Given the description of an element on the screen output the (x, y) to click on. 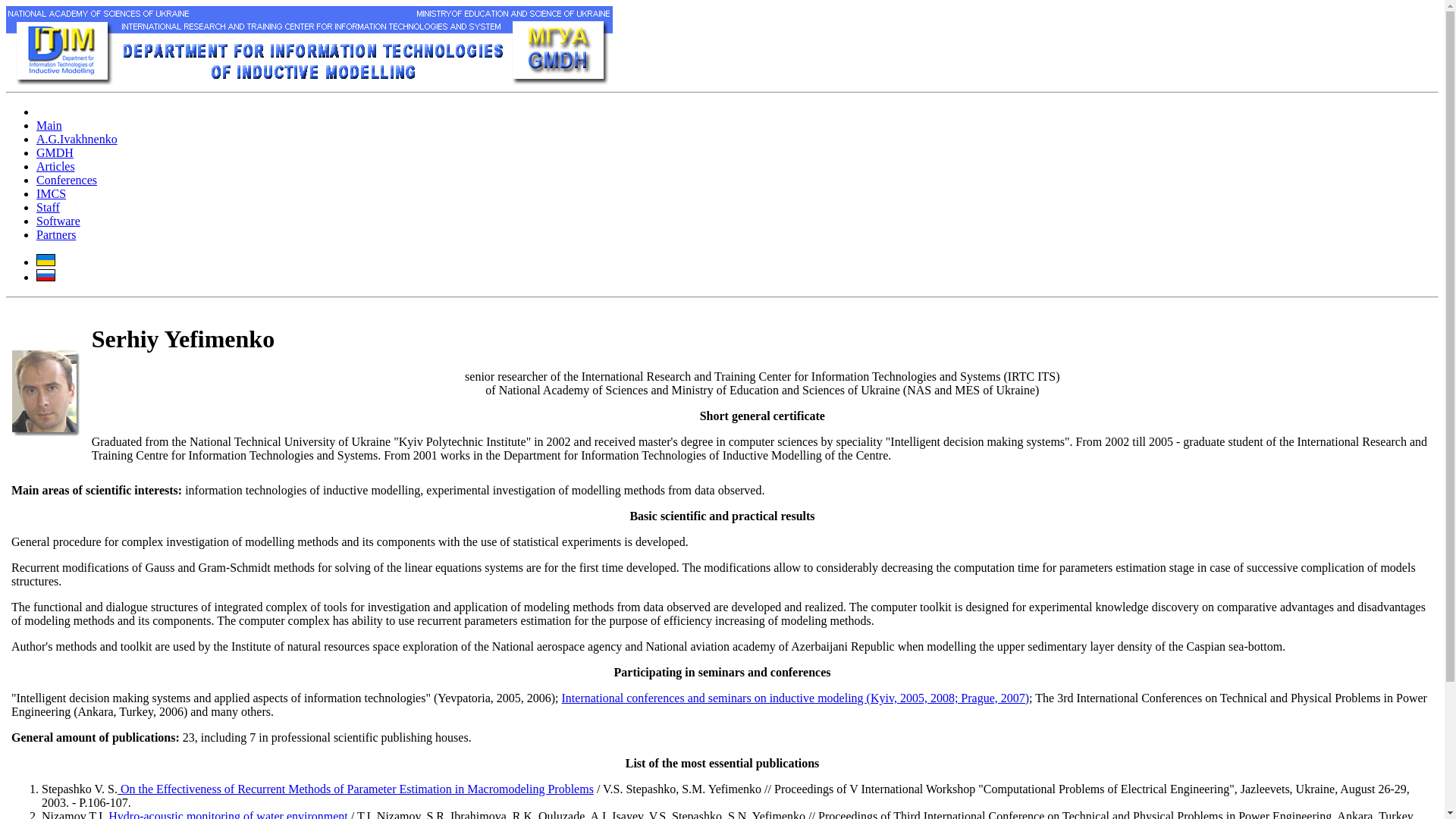
Articles (55, 165)
Partners (55, 234)
Software (58, 220)
Conferences (66, 179)
GMDH (55, 152)
IMCS (50, 193)
A.G.Ivakhnenko (76, 138)
Hydro-acoustic monitoring of water environment (225, 814)
Main (49, 124)
